Given the description of an element on the screen output the (x, y) to click on. 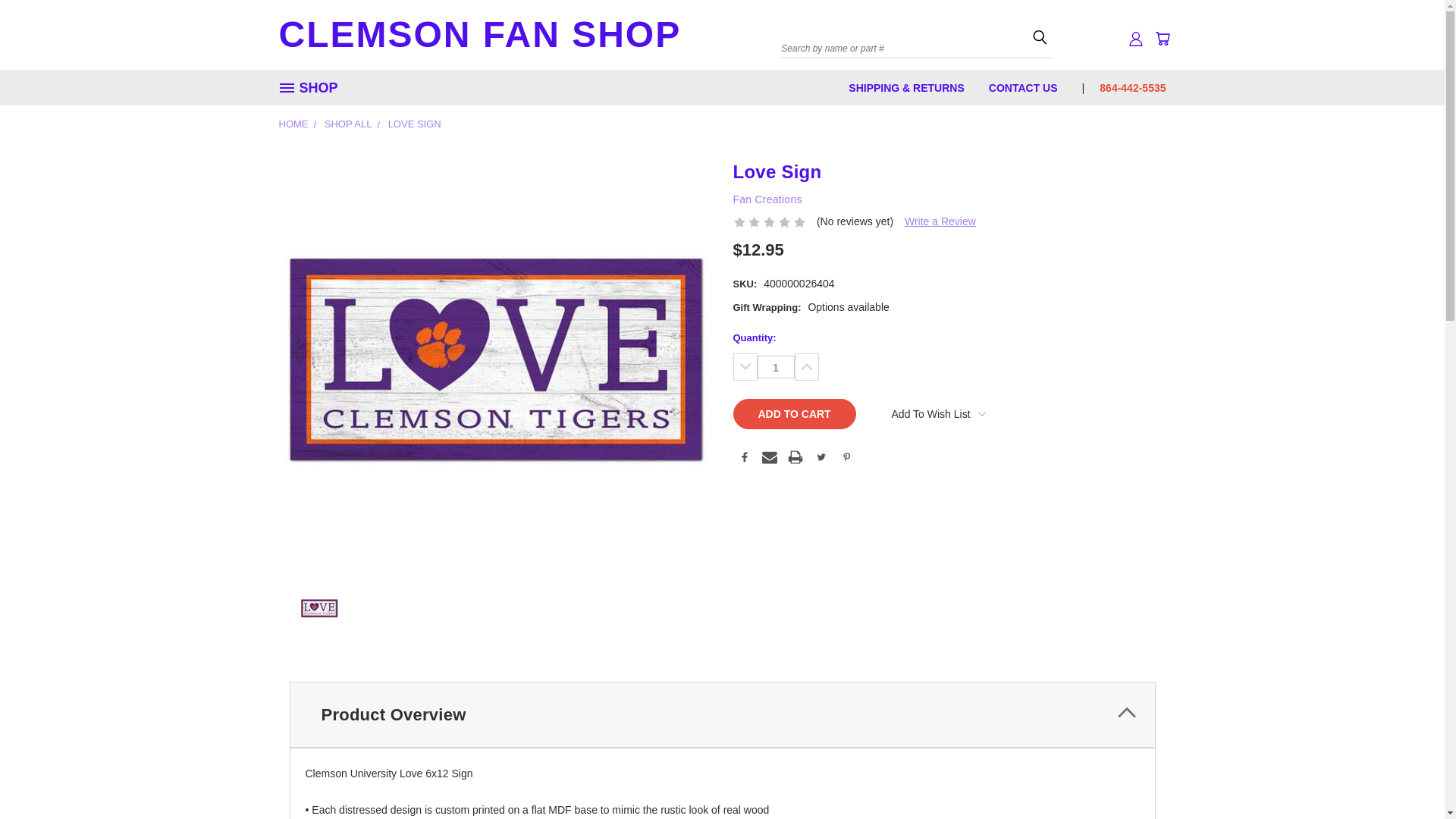
Cart (1161, 38)
Submit Search (1039, 37)
Add to Cart (794, 413)
Clemson Tigers Love Sign 6"x12" (318, 607)
CLEMSON FAN SHOP (499, 89)
User Toolbox (1135, 38)
SHOP (314, 88)
1 (775, 366)
